Given the description of an element on the screen output the (x, y) to click on. 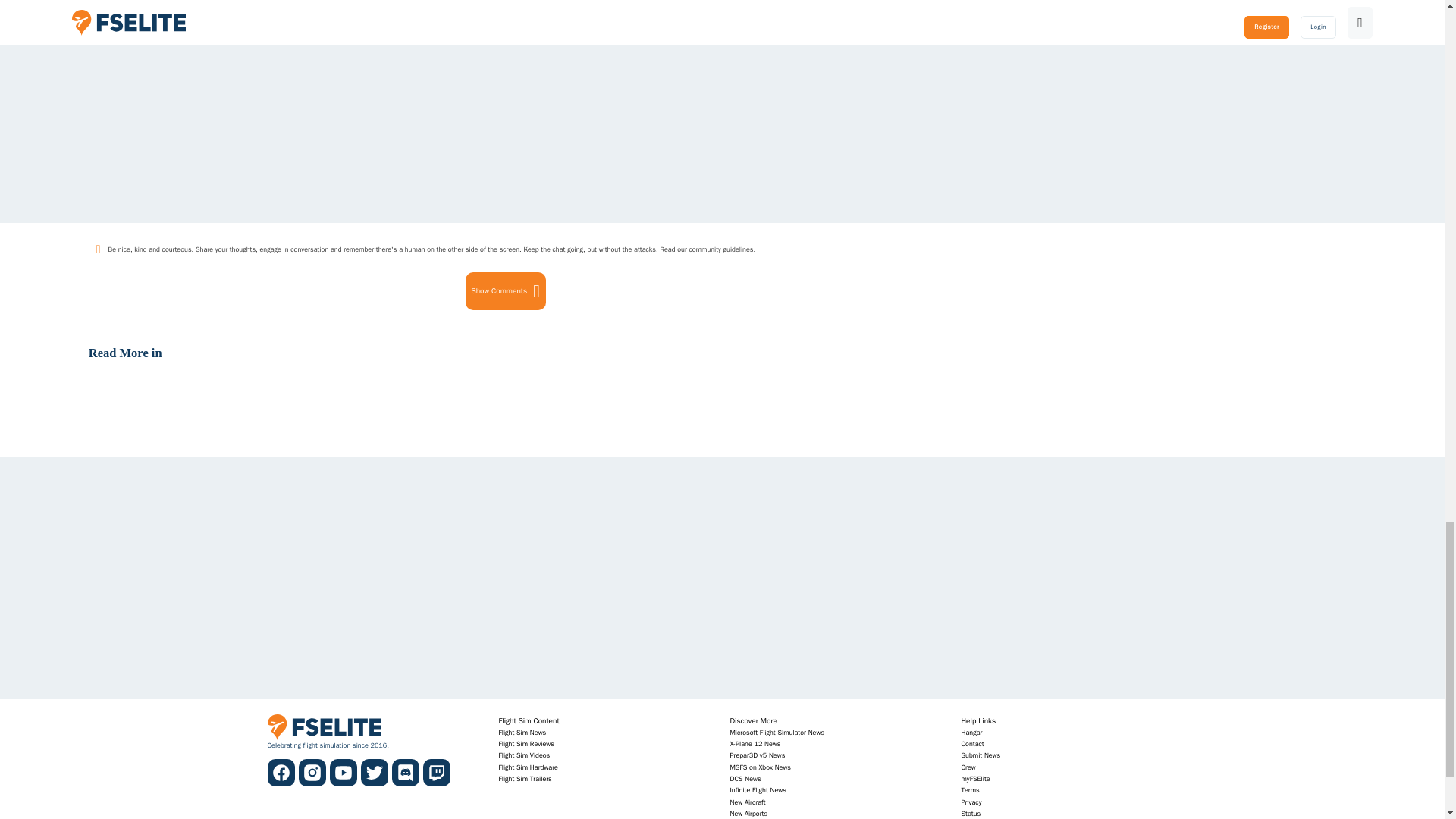
Microsoft Flight Simulator on Xbox News (759, 767)
Flight Sim hardware (528, 767)
Flight Simulator News (523, 732)
Prepar3D v5 News (756, 755)
Discover more in Digital Combat Simulator (744, 778)
Watch Flight Simulator Videos (524, 755)
Discover more in Infinite Flight (757, 790)
Discover more in Airports (748, 813)
Discover more in Aircraft (747, 802)
Microsoft Flight Simulator news (776, 732)
